Given the description of an element on the screen output the (x, y) to click on. 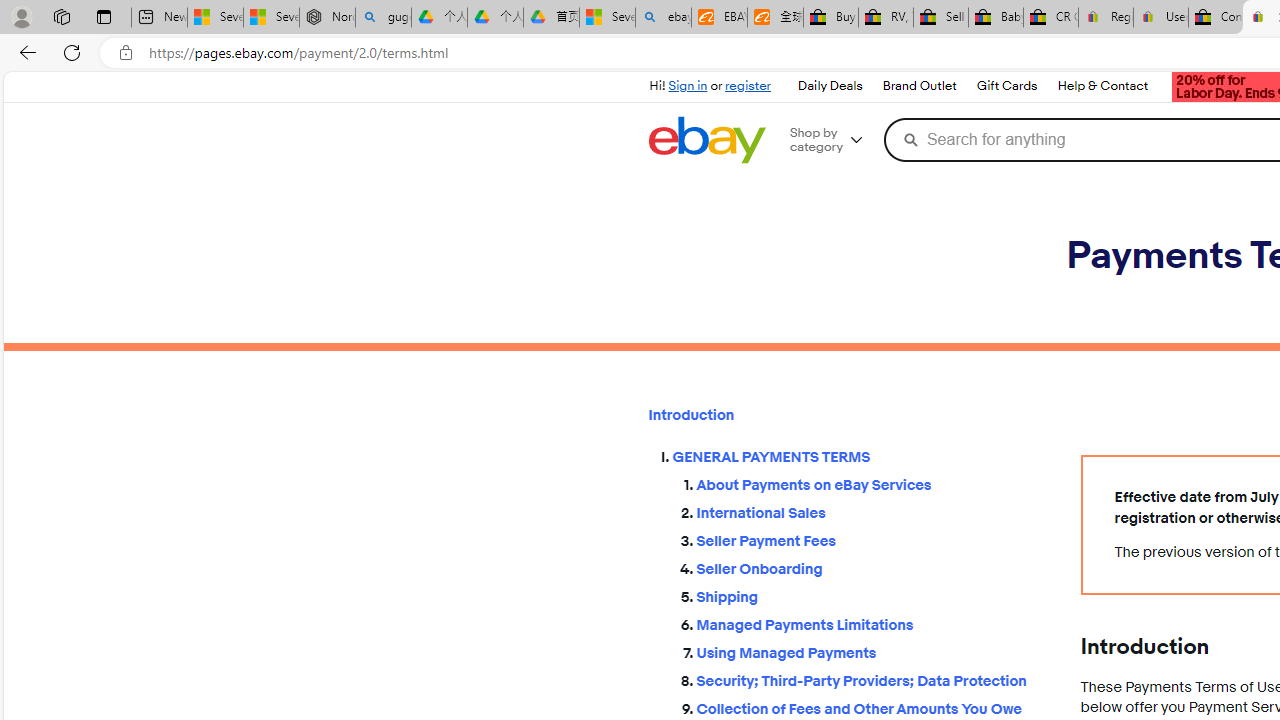
Gift Cards (1006, 85)
Collection of Fees and Other Amounts You Owe (872, 705)
Sell worldwide with eBay (940, 17)
Using Managed Payments (872, 649)
Buy Auto Parts & Accessories | eBay (830, 17)
Baby Keepsakes & Announcements for sale | eBay (995, 17)
Register: Create a personal eBay account (1105, 17)
Gift Cards (1006, 86)
RV, Trailer & Camper Steps & Ladders for sale | eBay (885, 17)
Consumer Health Data Privacy Policy - eBay Inc. (1215, 17)
Help & Contact (1101, 85)
